Given the description of an element on the screen output the (x, y) to click on. 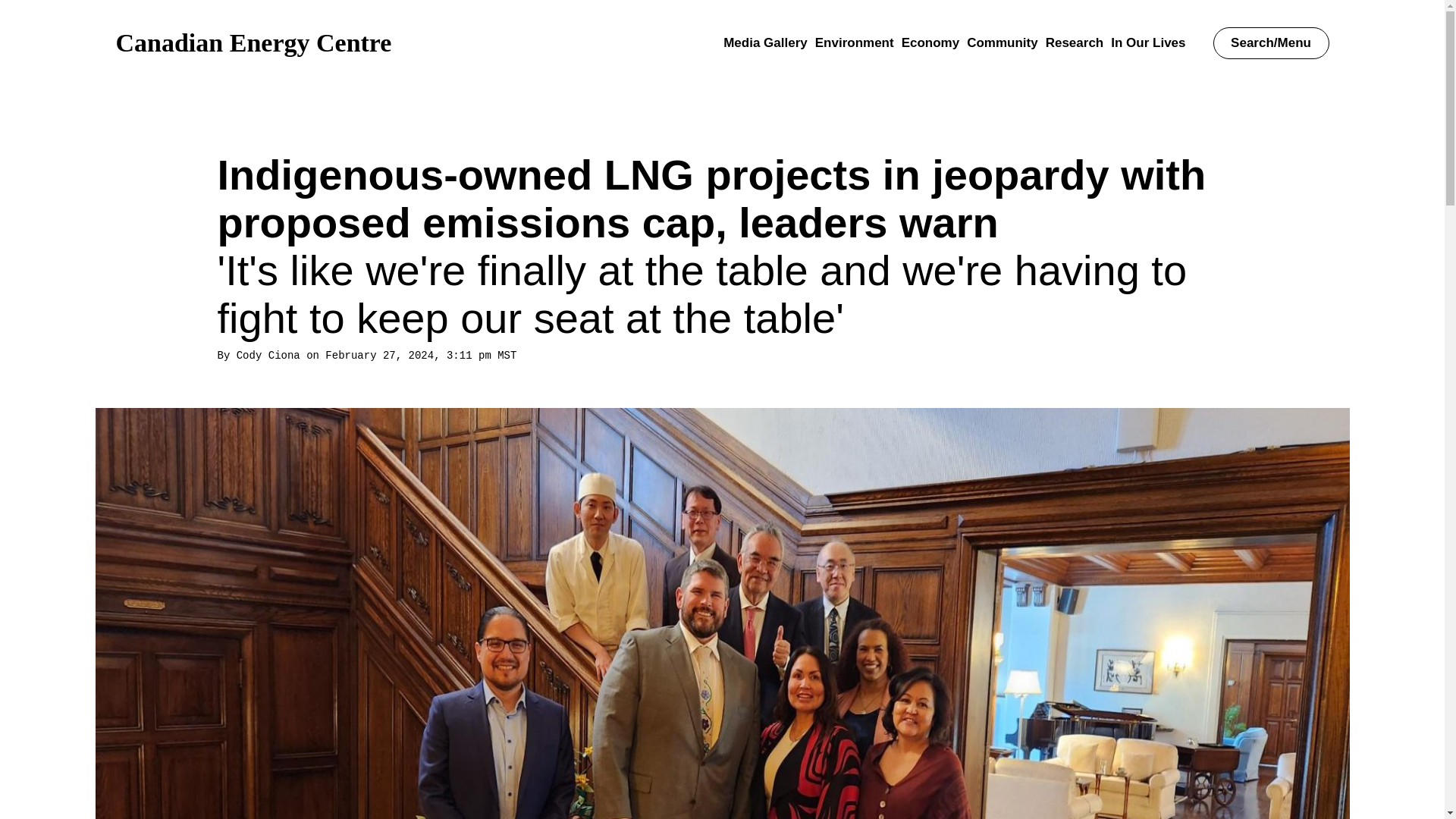
Media Gallery (765, 42)
In Our Lives (1147, 42)
Canadian Energy Centre (253, 42)
Cody Ciona (267, 355)
Research (1074, 42)
Community (1002, 42)
Environment (854, 42)
Economy (930, 42)
